Given the description of an element on the screen output the (x, y) to click on. 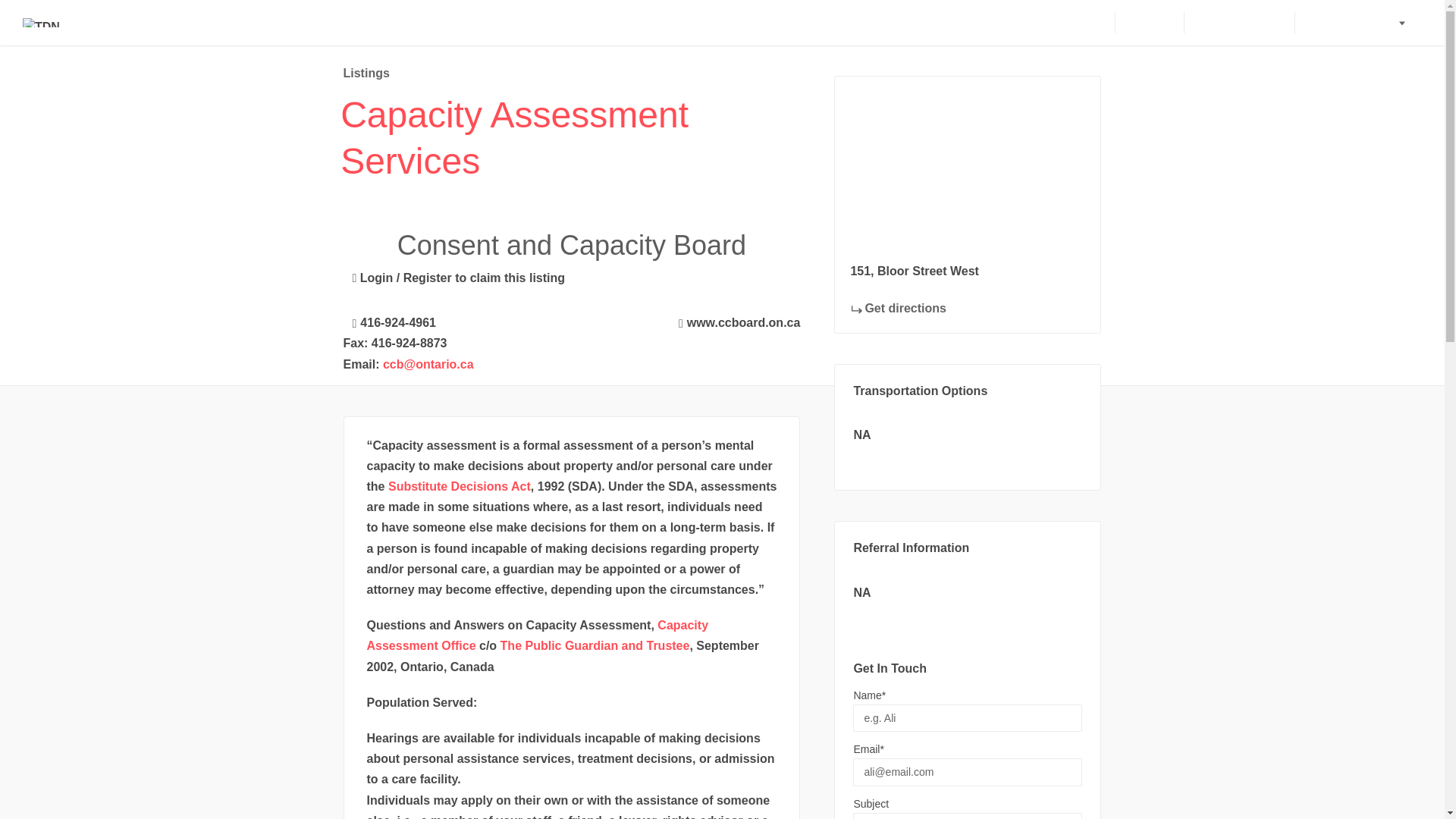
www.ccboard.on.ca (734, 319)
About (1083, 22)
416-924-4961 (388, 319)
Contact (1148, 22)
Substitute Decisions Act (459, 486)
The Public Guardian and Trustee (595, 645)
Research Studies (1238, 22)
Listings (365, 73)
Service Providers (1358, 22)
Capacity Assessment Office (537, 635)
